Given the description of an element on the screen output the (x, y) to click on. 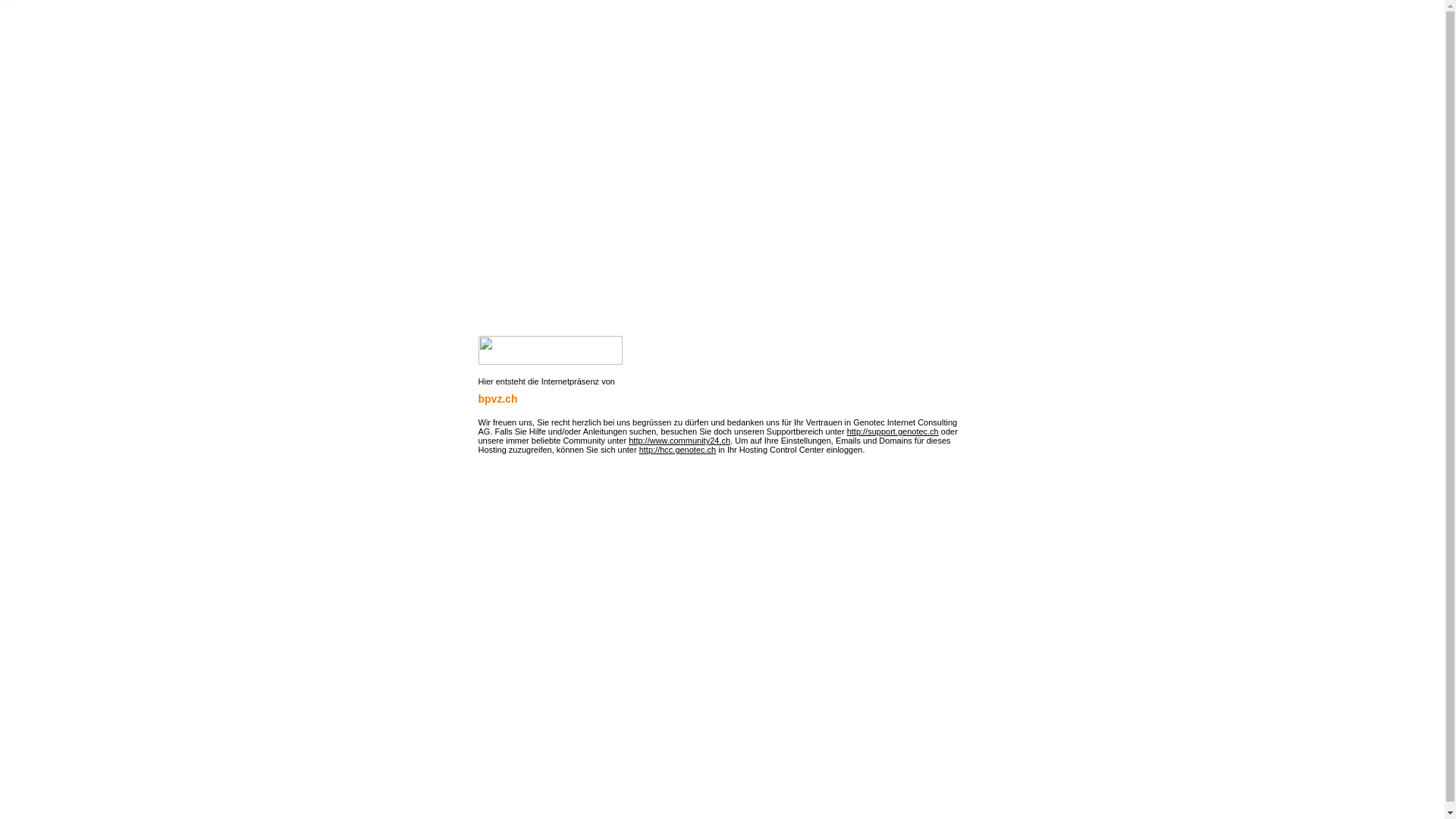
Arizona Cardinals Element type: text (6, 0)
Philadelphia Eagles Jerseys Element type: text (9, 2)
  Element type: text (478, 484)
http://www.community24.ch Element type: text (679, 440)
http://hcc.genotec.ch Element type: text (677, 449)
http://support.genotec.ch Element type: text (892, 431)
